Given the description of an element on the screen output the (x, y) to click on. 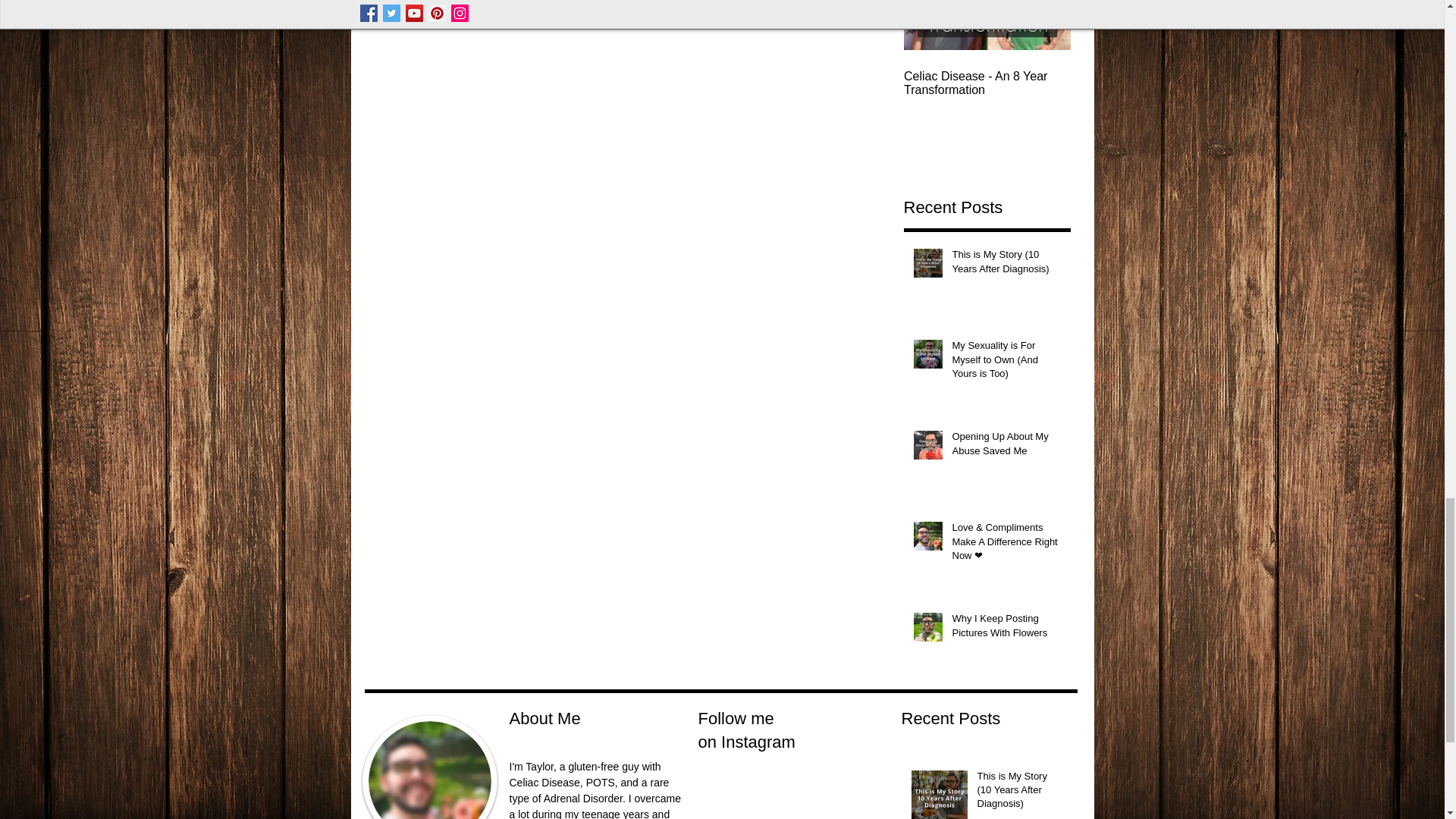
Why I Keep Posting Pictures With Flowers (1006, 628)
Celiac Disease - An 8 Year Transformation (987, 83)
Opening Up About My Abuse Saved Me (1006, 446)
I Have Celiac Disease But Here's Why I'm Thankful For Gluten (1153, 89)
